Given the description of an element on the screen output the (x, y) to click on. 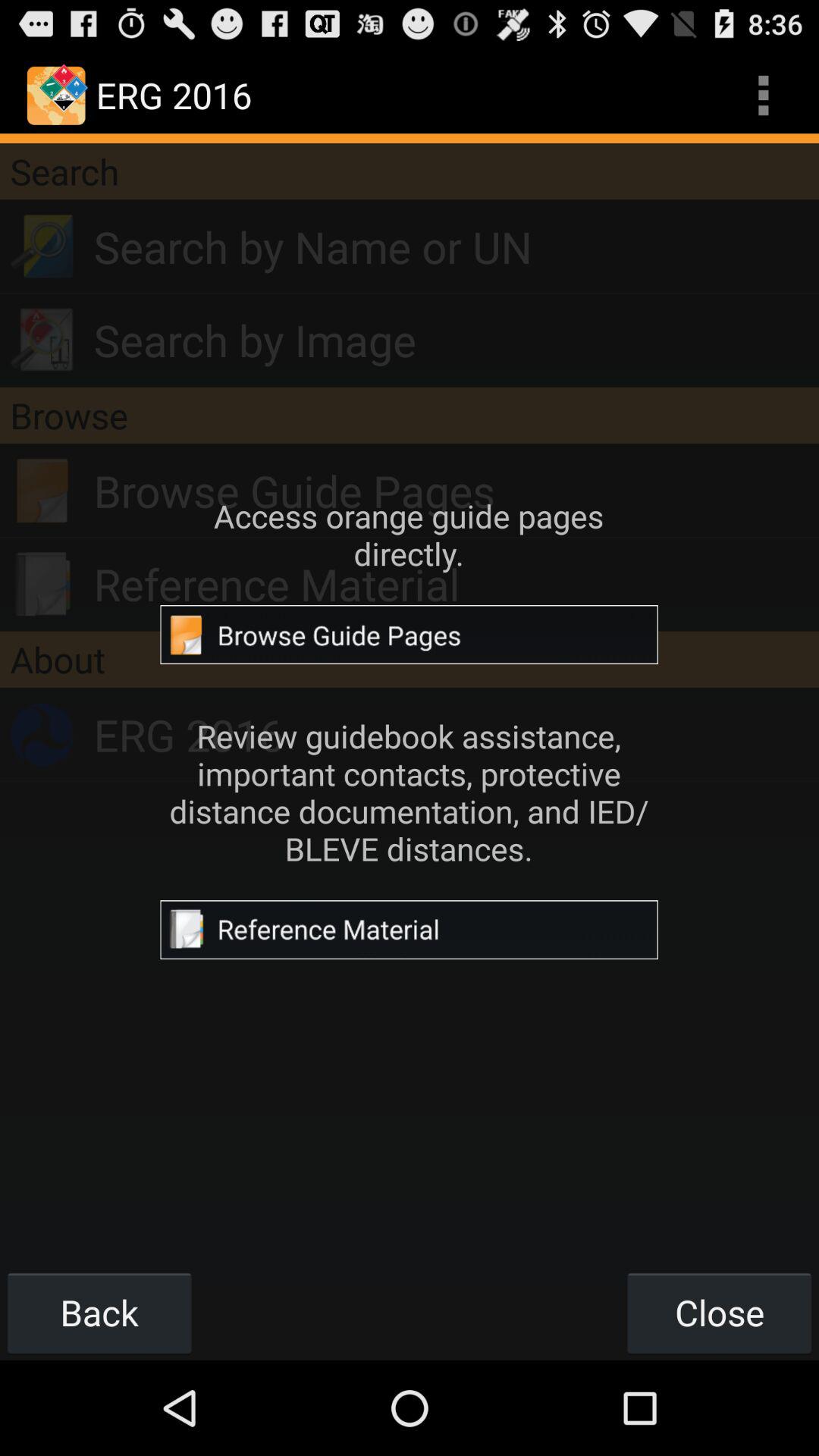
jump until the reference material app (456, 584)
